Given the description of an element on the screen output the (x, y) to click on. 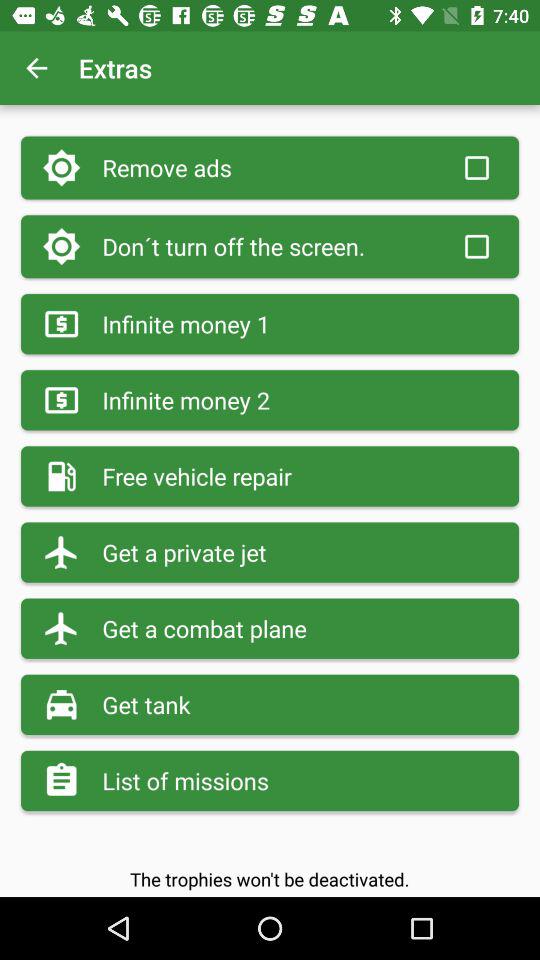
selects do n't turn off the screen option (477, 246)
